Given the description of an element on the screen output the (x, y) to click on. 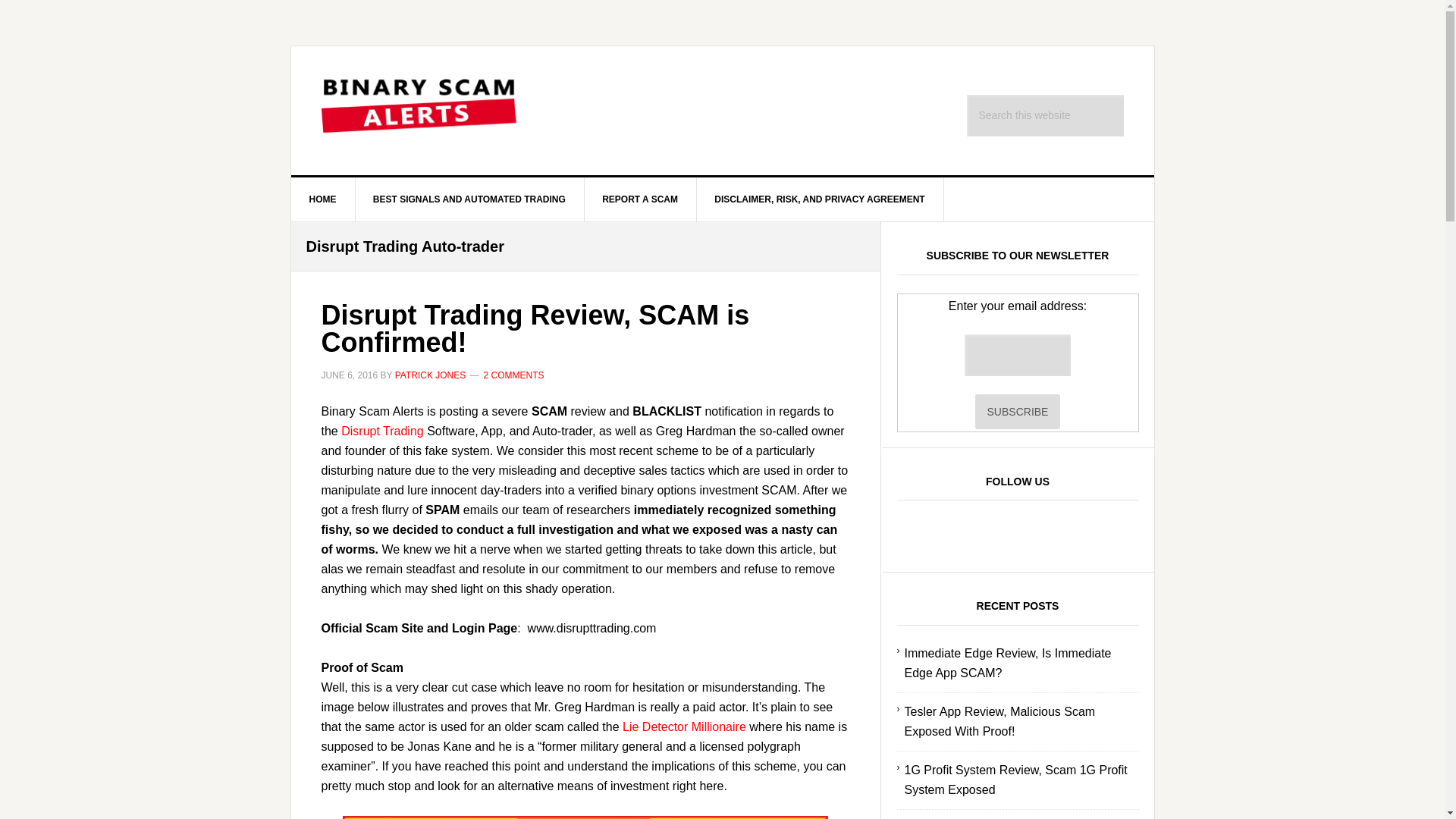
Subscribe (1018, 411)
2 COMMENTS (513, 375)
DISCLAIMER, RISK, AND PRIVACY AGREEMENT (819, 199)
BINARY SCAM ALERTS (419, 110)
Lie Detector Millionaire (684, 726)
Disrupt Trading Review, SCAM is Confirmed! (535, 328)
BEST SIGNALS AND AUTOMATED TRADING (470, 199)
